Given the description of an element on the screen output the (x, y) to click on. 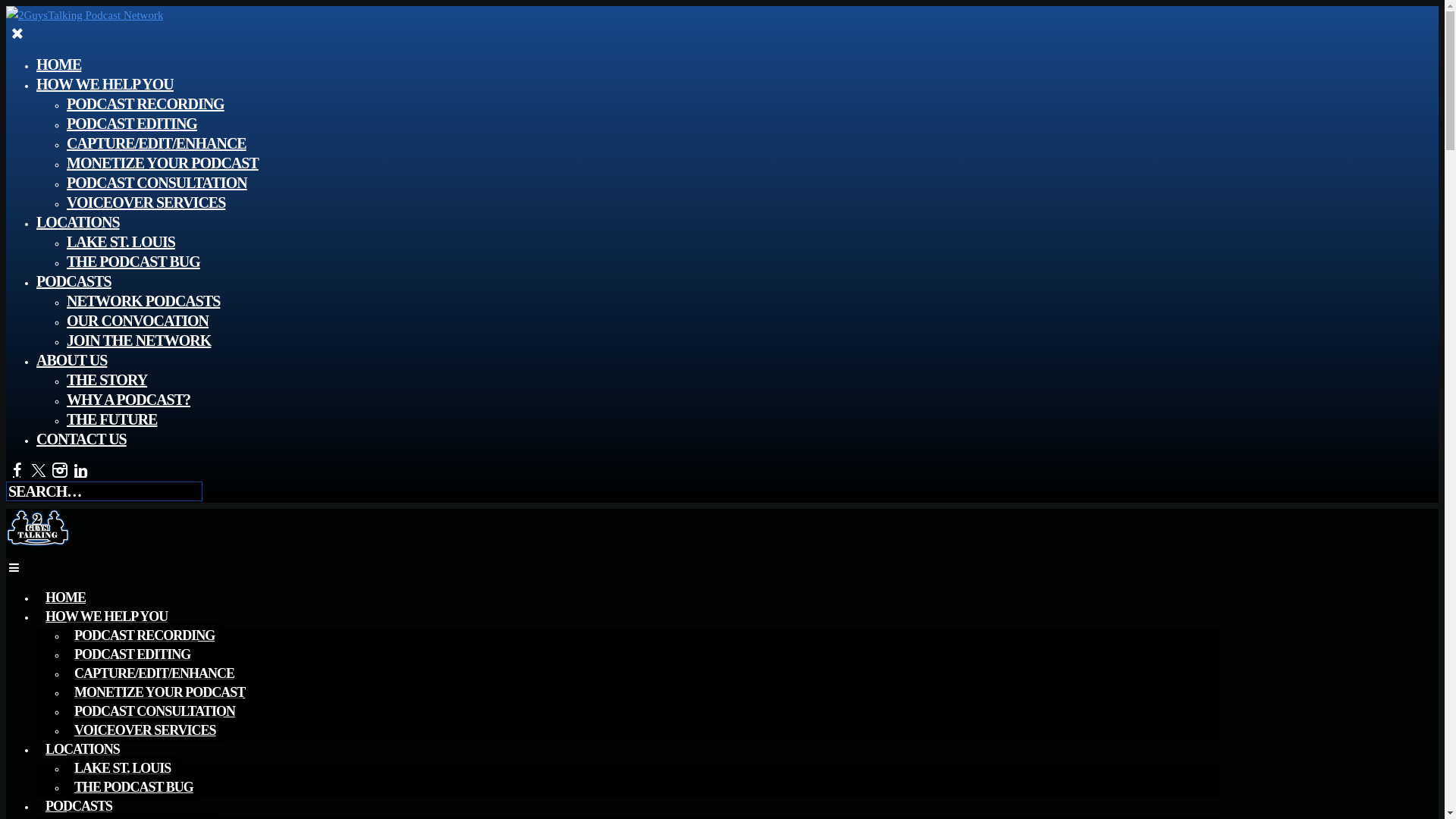
PODCAST RECORDING Element type: text (145, 103)
HOW WE HELP YOU Element type: text (104, 83)
VOICEOVER SERVICES Element type: text (144, 729)
2GuysTalking Podcast Network Element type: hover (84, 15)
LAKE ST. LOUIS Element type: text (122, 767)
2GuysTalking Podcast Network Element type: hover (37, 541)
HOME Element type: text (65, 597)
HOW WE HELP YOU Element type: text (106, 616)
MONETIZE YOUR PODCAST Element type: text (159, 692)
PODCAST EDITING Element type: text (131, 654)
THE STORY Element type: text (106, 379)
THE PODCAST BUG Element type: text (133, 261)
PODCAST CONSULTATION Element type: text (154, 710)
LOCATIONS Element type: text (77, 221)
WHY A PODCAST? Element type: text (128, 399)
Follow us on Facebook Element type: hover (16, 469)
ABOUT US Element type: text (71, 359)
PODCAST CONSULTATION Element type: text (156, 182)
LAKE ST. LOUIS Element type: text (120, 241)
HOME Element type: text (58, 64)
NETWORK PODCASTS Element type: text (142, 300)
VOICEOVER SERVICES Element type: text (145, 202)
THE FUTURE Element type: text (111, 418)
MONETIZE YOUR PODCAST Element type: text (162, 162)
CAPTURE/EDIT/ENHANCE Element type: text (153, 673)
OUR CONVOCATION Element type: text (137, 320)
CONTACT US Element type: text (81, 438)
Follow us on LinkedIn Element type: hover (80, 469)
LOCATIONS Element type: text (82, 749)
THE PODCAST BUG Element type: text (133, 786)
PODCAST RECORDING Element type: text (144, 635)
PODCASTS Element type: text (73, 280)
Follow us on Instagram Element type: hover (58, 469)
JOIN THE NETWORK Element type: text (138, 340)
PODCAST EDITING Element type: text (131, 123)
CAPTURE/EDIT/ENHANCE Element type: text (156, 142)
Search Element type: text (28, 13)
Follow us on X Element type: hover (37, 469)
